Given the description of an element on the screen output the (x, y) to click on. 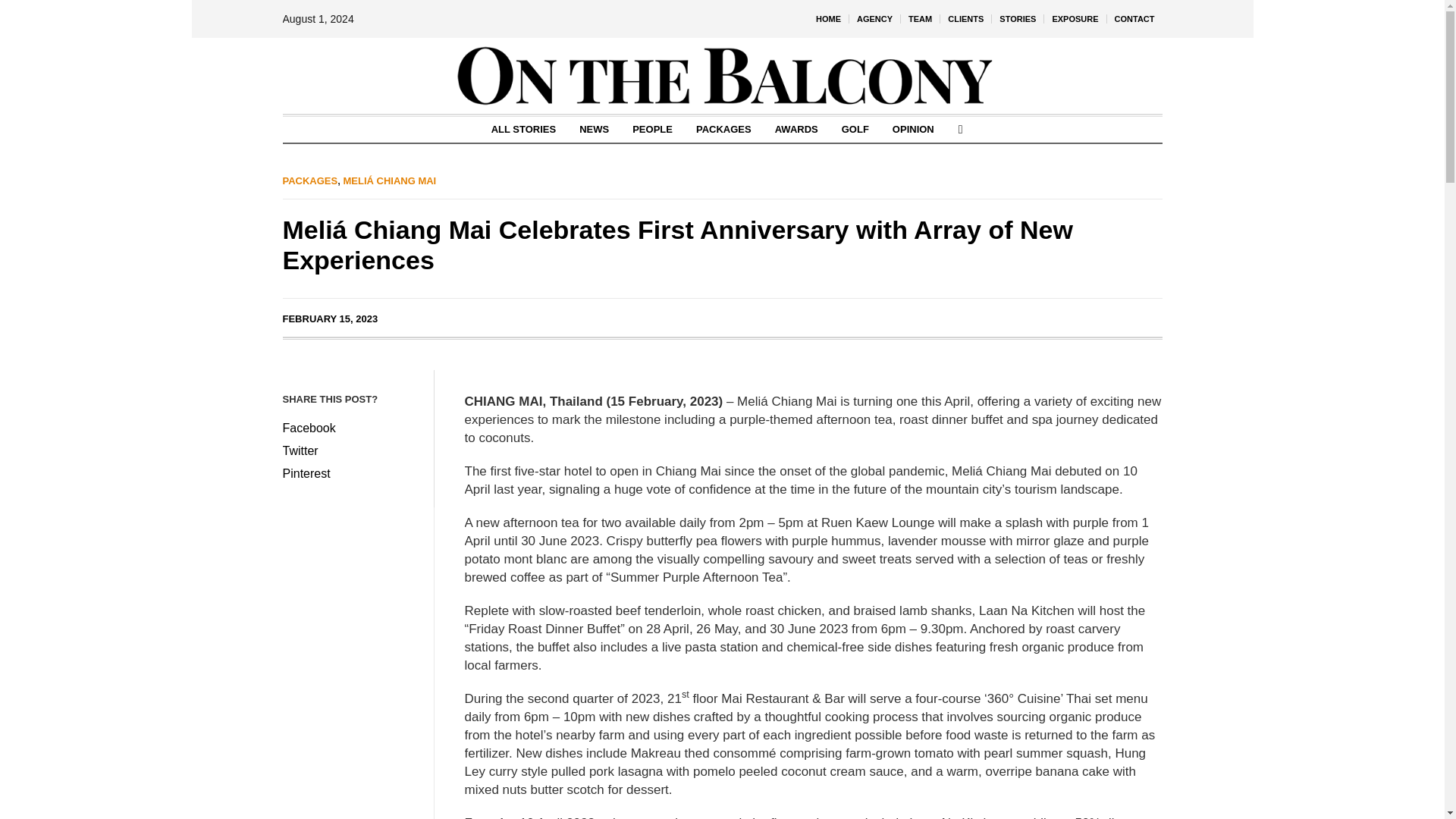
Twitter (349, 450)
GOLF (854, 129)
Pinterest (349, 473)
NEWS (593, 129)
PACKAGES (723, 129)
STORIES (1017, 18)
AGENCY (873, 18)
PEOPLE (652, 129)
OPINION (912, 129)
HOME (828, 18)
TEAM (920, 18)
Facebook (349, 427)
CLIENTS (965, 18)
ALL STORIES (523, 129)
February 15, 2023 (329, 318)
